Given the description of an element on the screen output the (x, y) to click on. 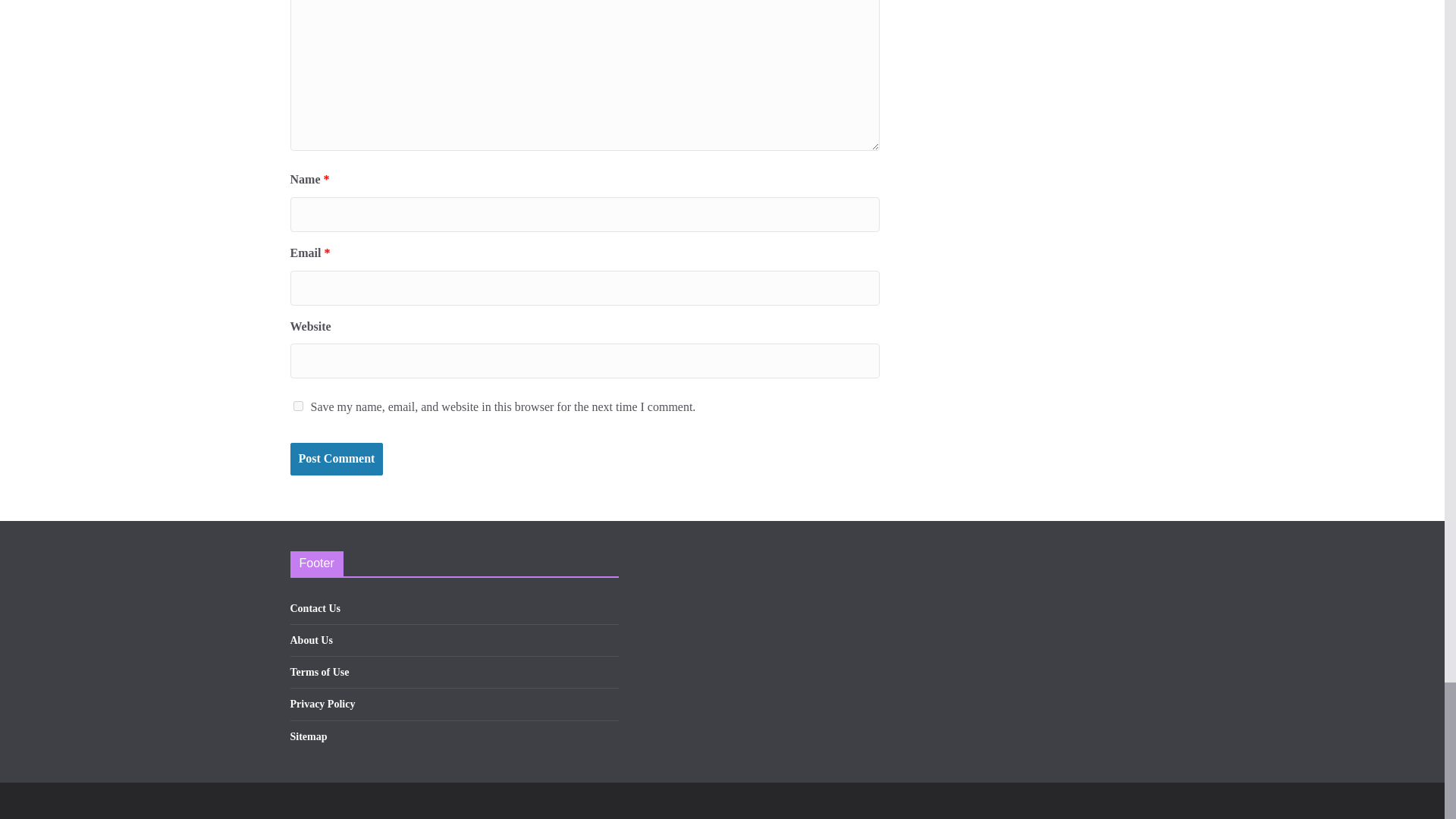
Post Comment (335, 459)
yes (297, 406)
Post Comment (335, 459)
